Given the description of an element on the screen output the (x, y) to click on. 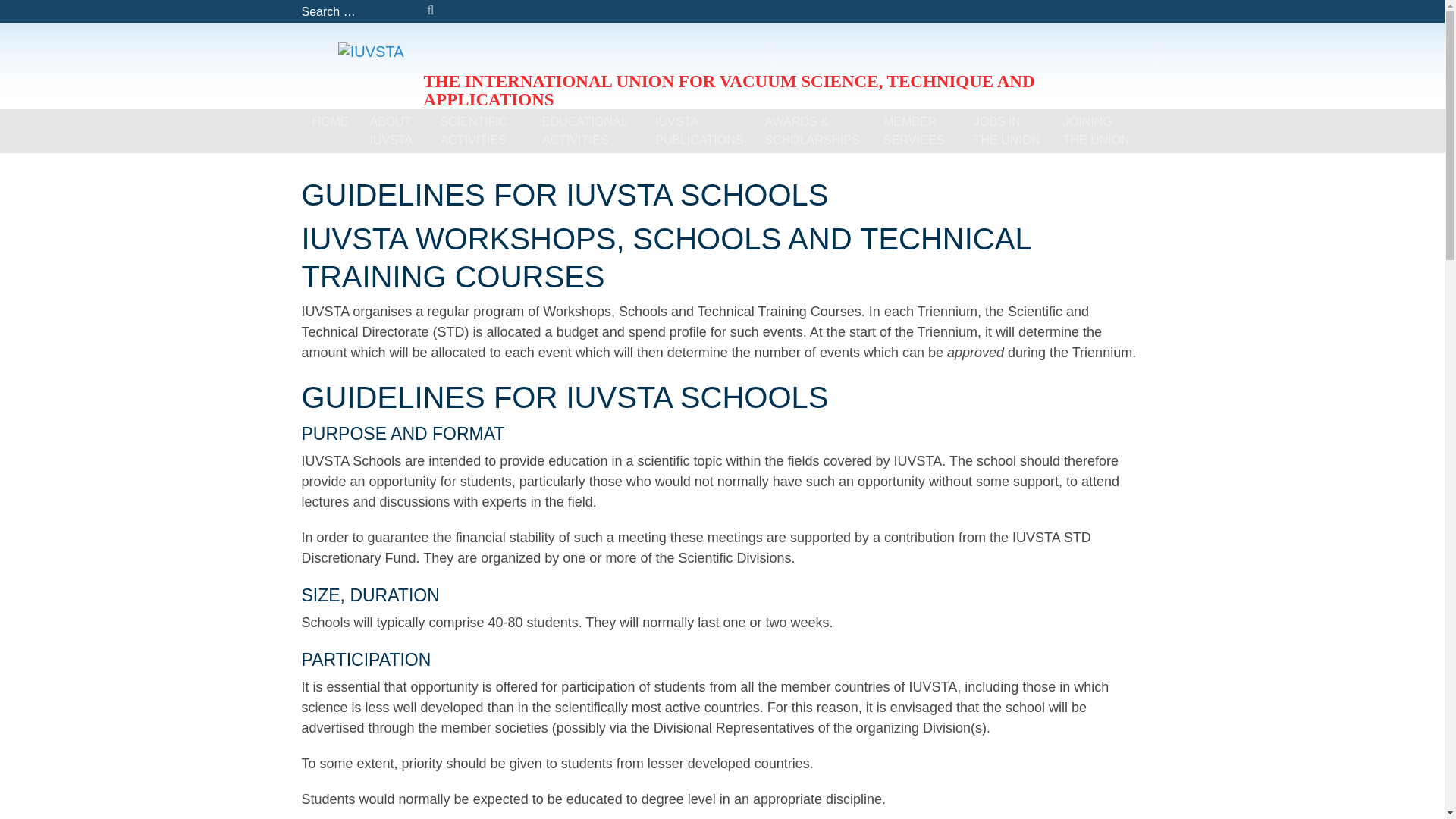
Joining the Union (1097, 130)
About IUVSTA (394, 130)
Educational Activities (588, 130)
ABOUT IUVSTA (394, 130)
SCIENTIFIC ACTIVITIES (480, 130)
Home (330, 121)
JOBS IN THE UNION (1007, 130)
EDUCATIONAL ACTIVITIES (588, 130)
Scientific Activities (480, 130)
JOINING THE UNION (1097, 130)
